Given the description of an element on the screen output the (x, y) to click on. 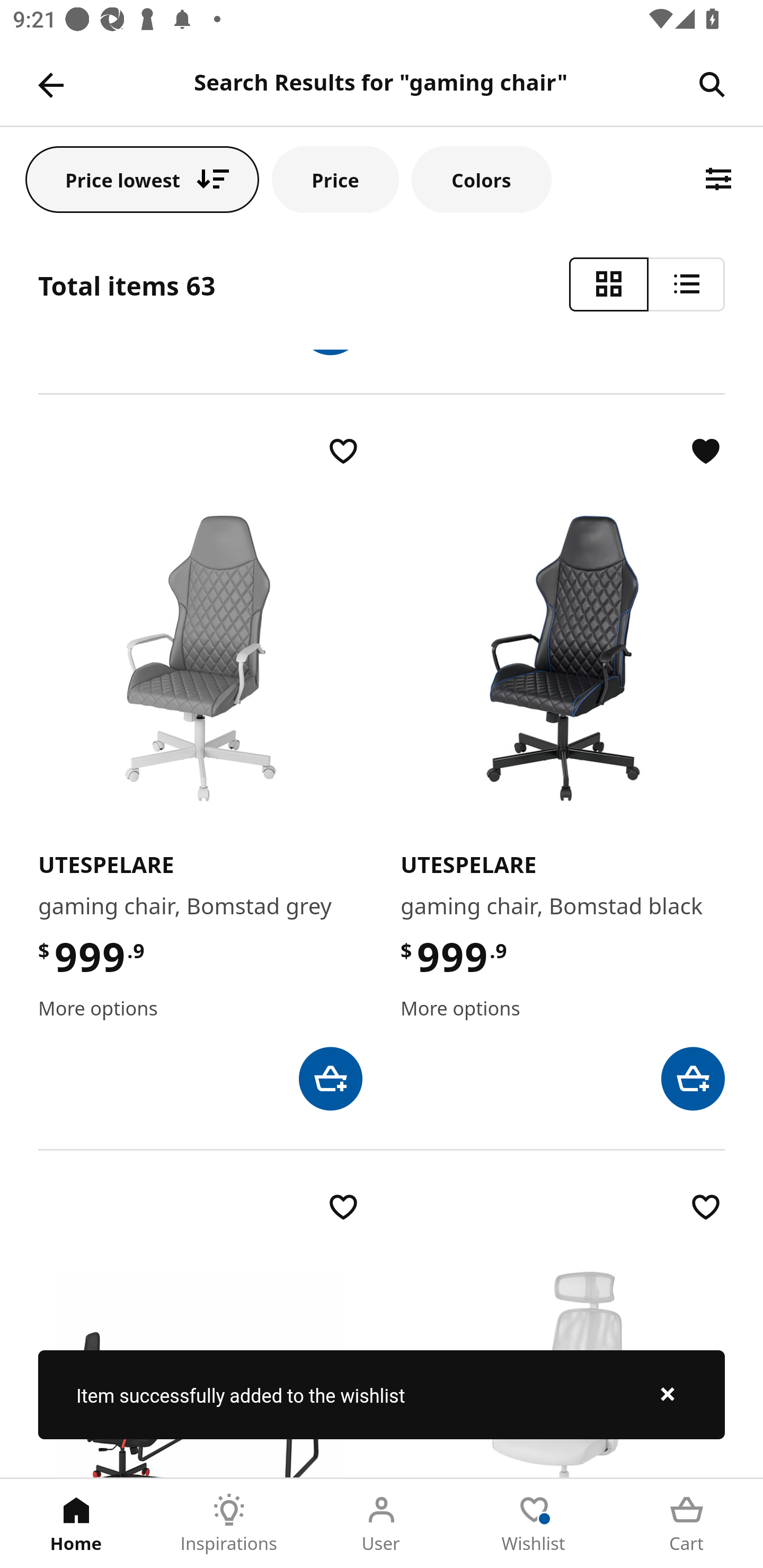
Price lowest (142, 179)
Price (335, 179)
Colors (481, 179)
Item successfully added to the wishlist (381, 1394)
Home
Tab 1 of 5 (76, 1522)
Inspirations
Tab 2 of 5 (228, 1522)
User
Tab 3 of 5 (381, 1522)
Wishlist
Tab 4 of 5 (533, 1522)
Cart
Tab 5 of 5 (686, 1522)
